Given the description of an element on the screen output the (x, y) to click on. 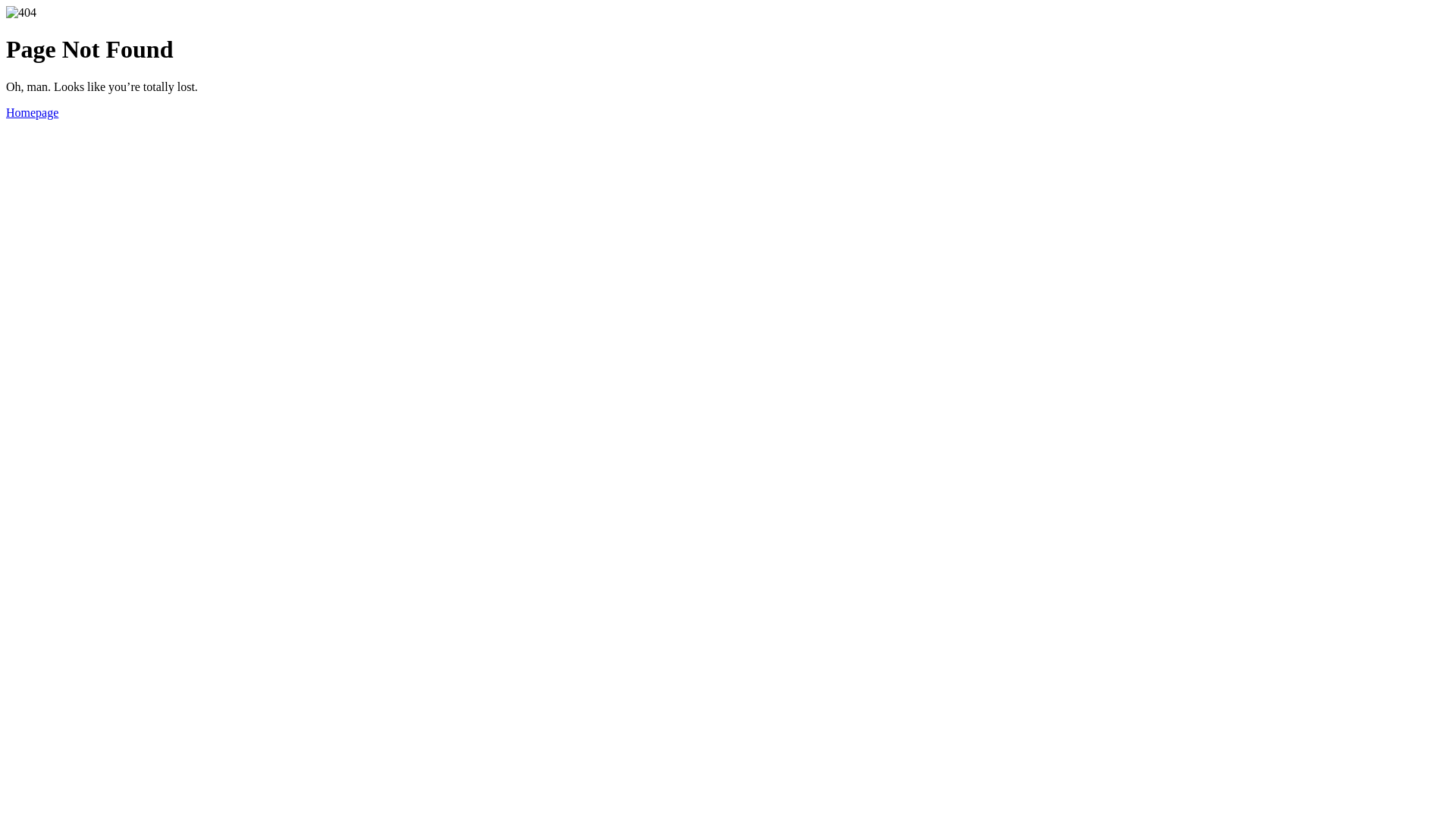
Homepage Element type: text (32, 112)
